Given the description of an element on the screen output the (x, y) to click on. 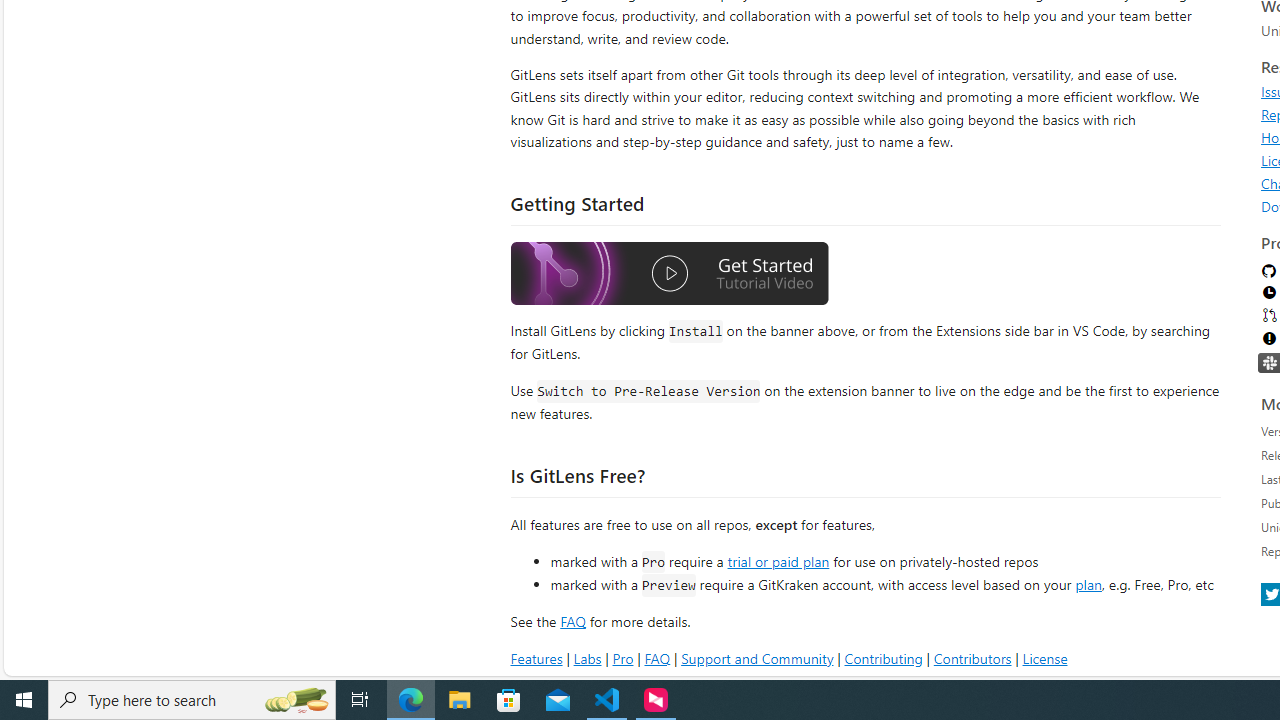
Pro (622, 658)
License (1044, 658)
Watch the GitLens Getting Started video (669, 273)
Contributors (972, 658)
Labs (587, 658)
FAQ (656, 658)
Contributing (882, 658)
Support and Community (757, 658)
Features (536, 658)
plan (1088, 584)
Watch the GitLens Getting Started video (669, 276)
trial or paid plan (778, 560)
